Given the description of an element on the screen output the (x, y) to click on. 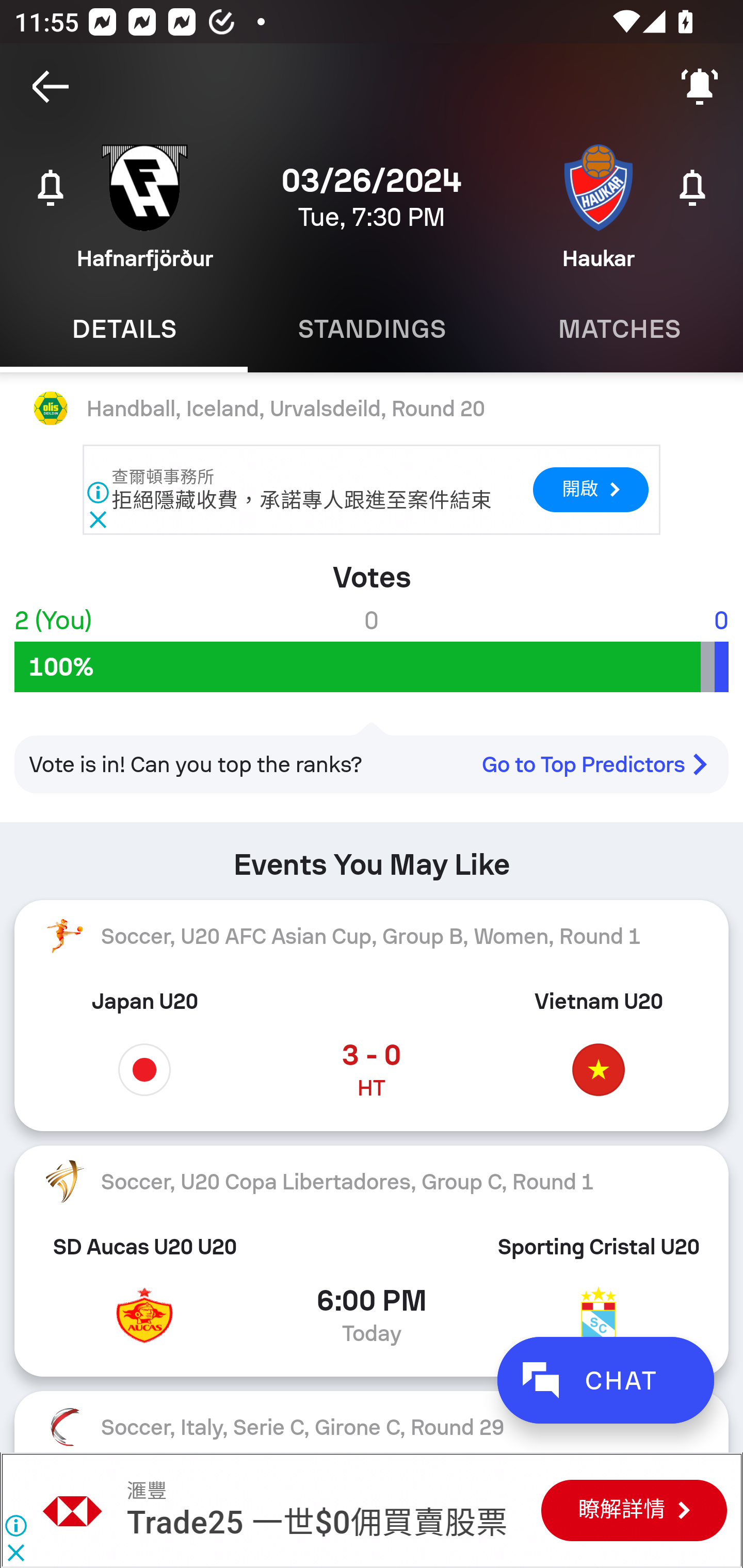
Navigate up (50, 86)
Standings STANDINGS (371, 329)
Matches MATCHES (619, 329)
Handball, Iceland, Urvalsdeild, Round 20 (371, 409)
查爾頓事務所 (163, 476)
開啟 (590, 488)
拒絕隱藏收費，承諾專人跟進至案件結束 (301, 499)
Go to Top Predictors (601, 764)
Events You May Like (371, 856)
Soccer, U20 AFC Asian Cup, Group B, Women, Round 1 (371, 936)
Soccer, U20 Copa Libertadores, Group C, Round 1 (371, 1182)
CHAT (605, 1380)
Soccer, Italy, Serie C, Girone C, Round 29 (371, 1420)
滙豐 (73, 1510)
滙豐 (145, 1491)
瞭解詳情 (634, 1509)
Trade25 一世$0佣買賣股票 (316, 1522)
